Given the description of an element on the screen output the (x, y) to click on. 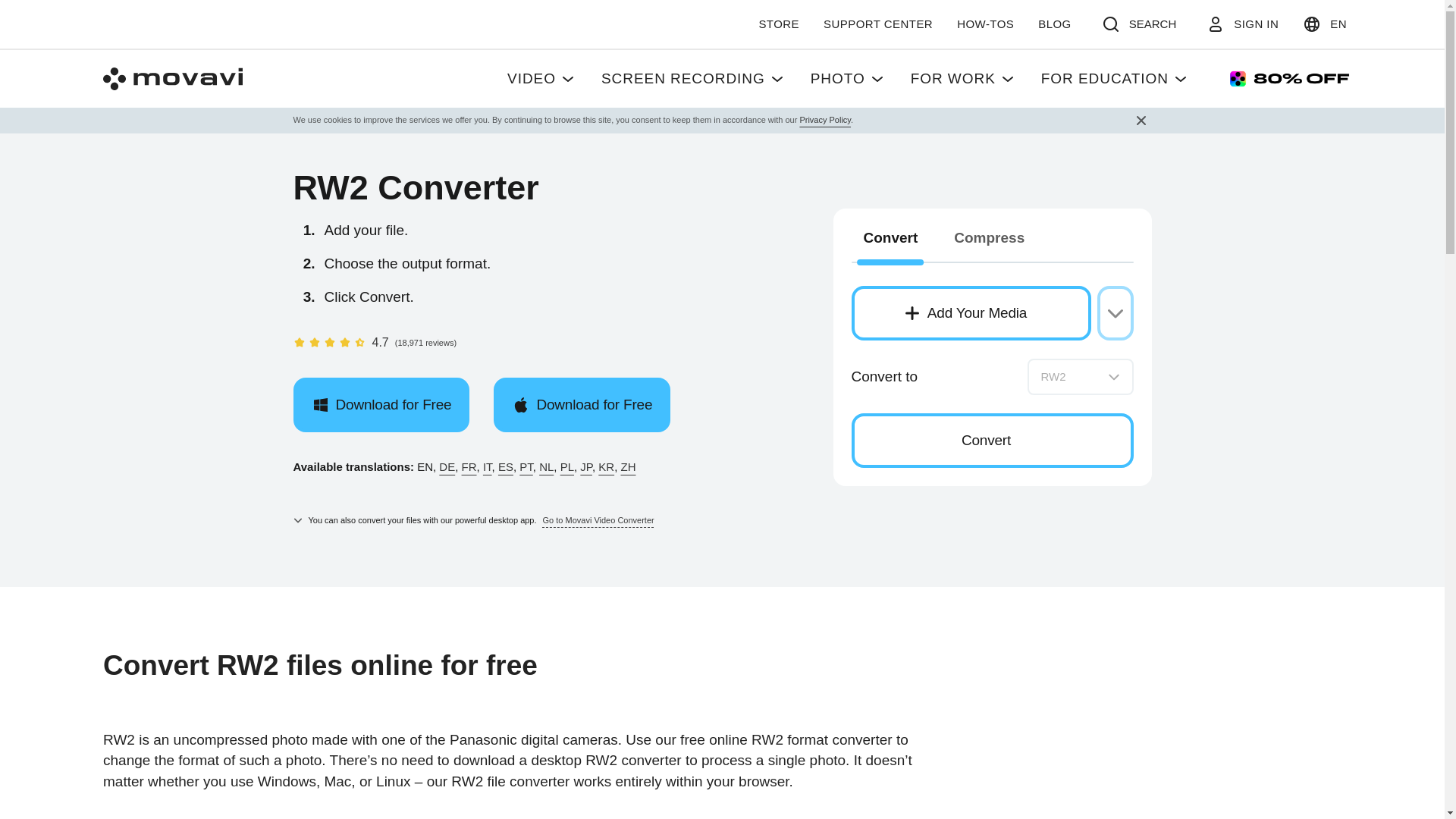
HOW-TOS (985, 24)
Home (991, 255)
Download for Free (978, 86)
SCREEN RECORDING (380, 404)
Privacy Policy (693, 78)
JP (824, 119)
PHOTO (585, 466)
BLOG (847, 78)
VIDEO (1054, 24)
FOR WORK (542, 78)
STORE (963, 78)
EN (778, 24)
PL (1324, 24)
SIGN IN (566, 466)
